Given the description of an element on the screen output the (x, y) to click on. 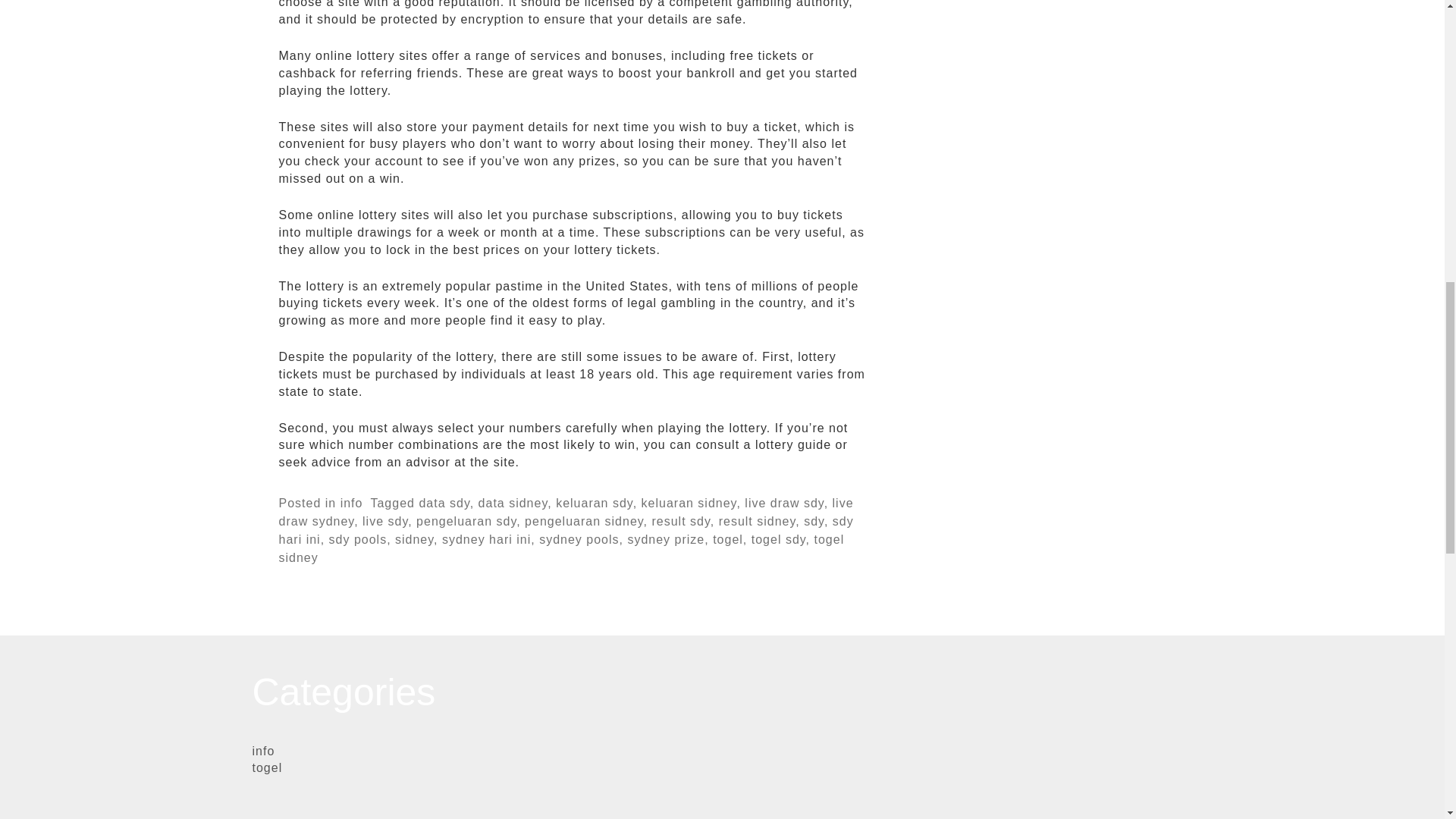
keluaran sidney (689, 503)
keluaran sdy (594, 503)
sdy pools (358, 540)
sdy hari ini (566, 531)
sdy (813, 521)
sidney (413, 540)
togel sidney (561, 549)
togel sdy (778, 540)
result sdy (680, 521)
live draw sydney (566, 512)
data sdy (443, 503)
togel (727, 540)
info (351, 503)
pengeluaran sidney (583, 521)
sydney hari ini (486, 540)
